Given the description of an element on the screen output the (x, y) to click on. 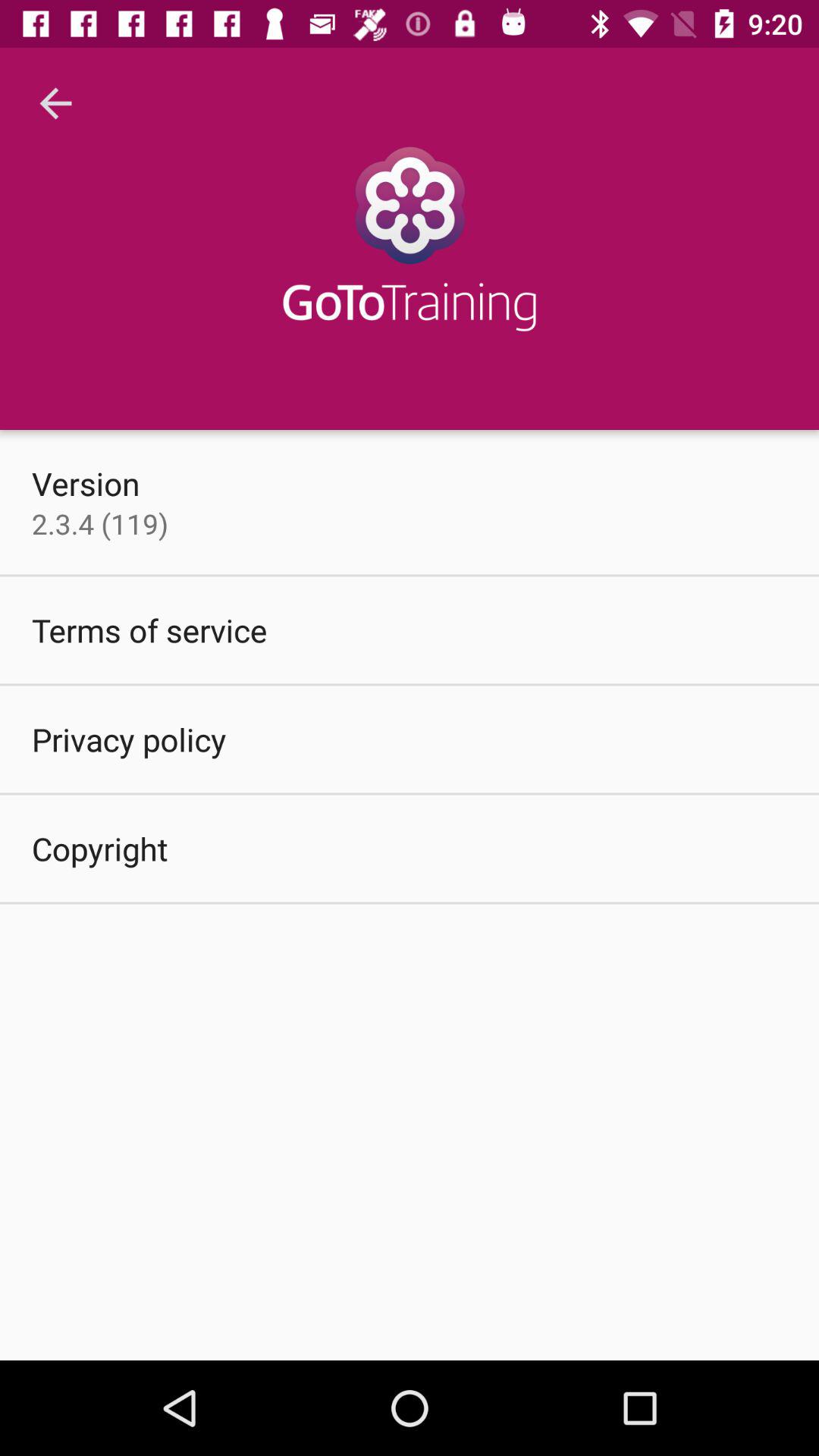
click the item above the 2 3 4 icon (85, 483)
